Given the description of an element on the screen output the (x, y) to click on. 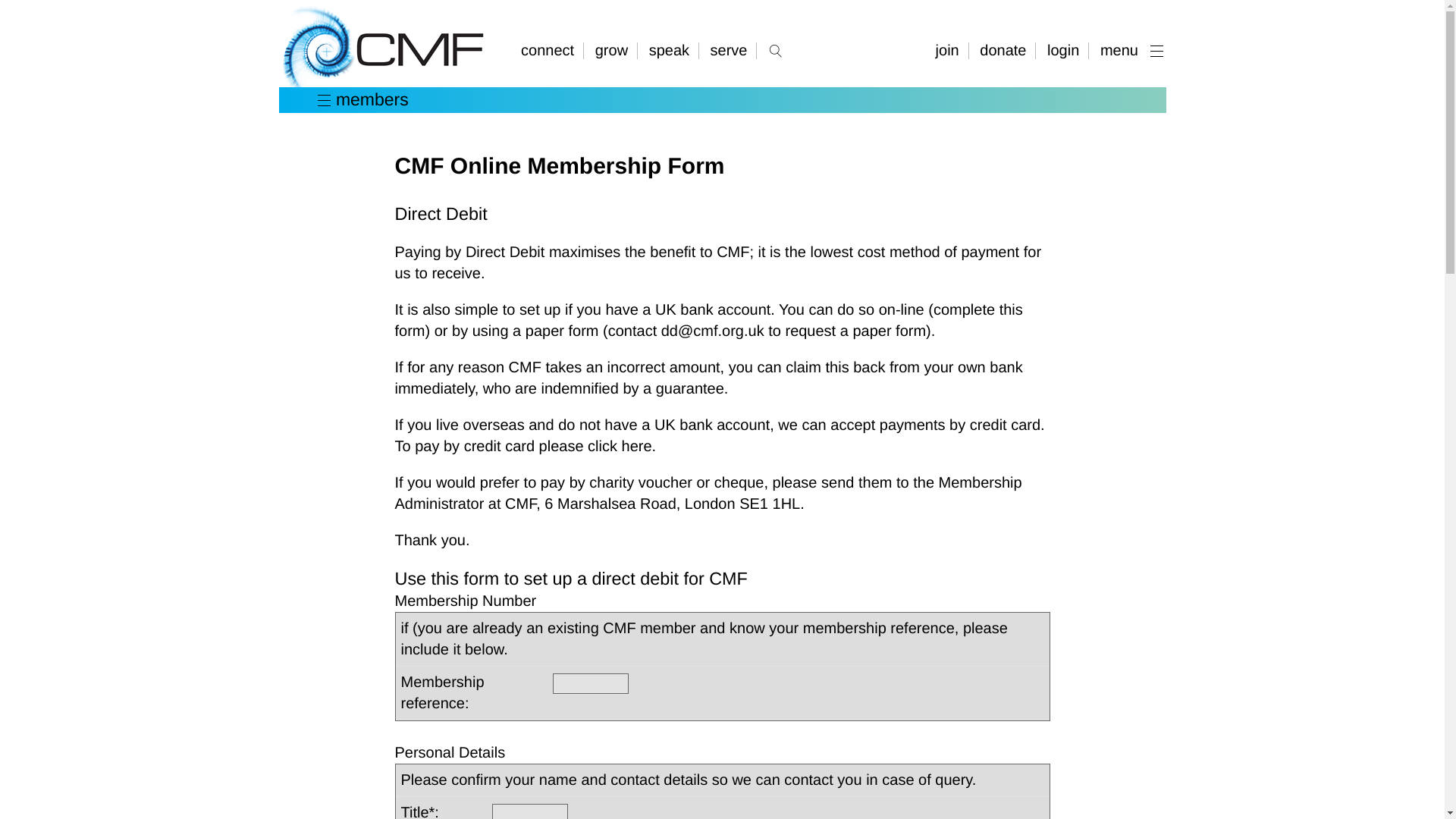
connect (552, 50)
serve (730, 50)
donate (1003, 50)
speak (670, 50)
grow (612, 50)
menu (1128, 50)
login (1065, 50)
join (948, 50)
